Given the description of an element on the screen output the (x, y) to click on. 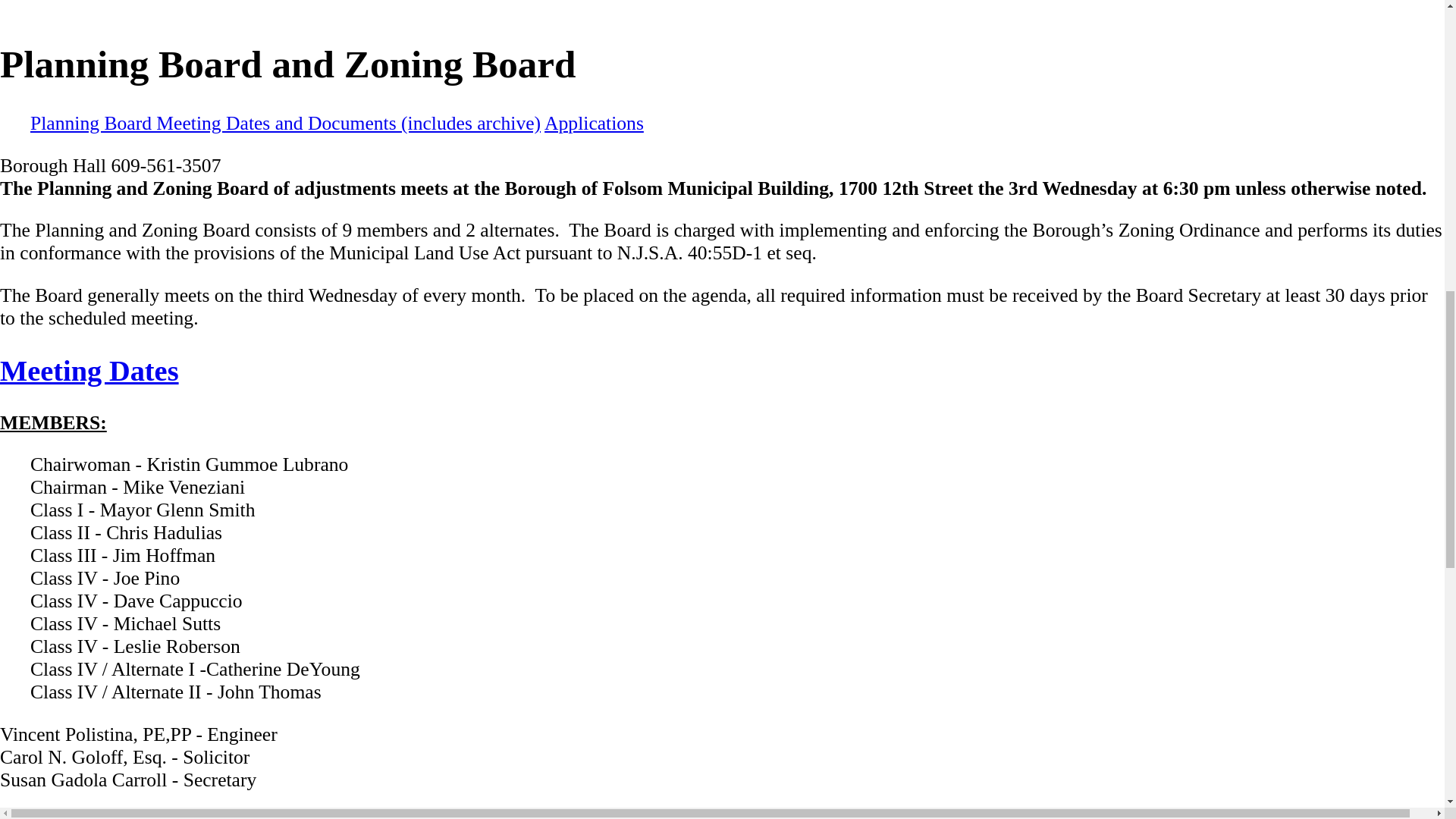
Meeting Dates (89, 370)
Planning Applications (321, 814)
Applications (593, 123)
